Given the description of an element on the screen output the (x, y) to click on. 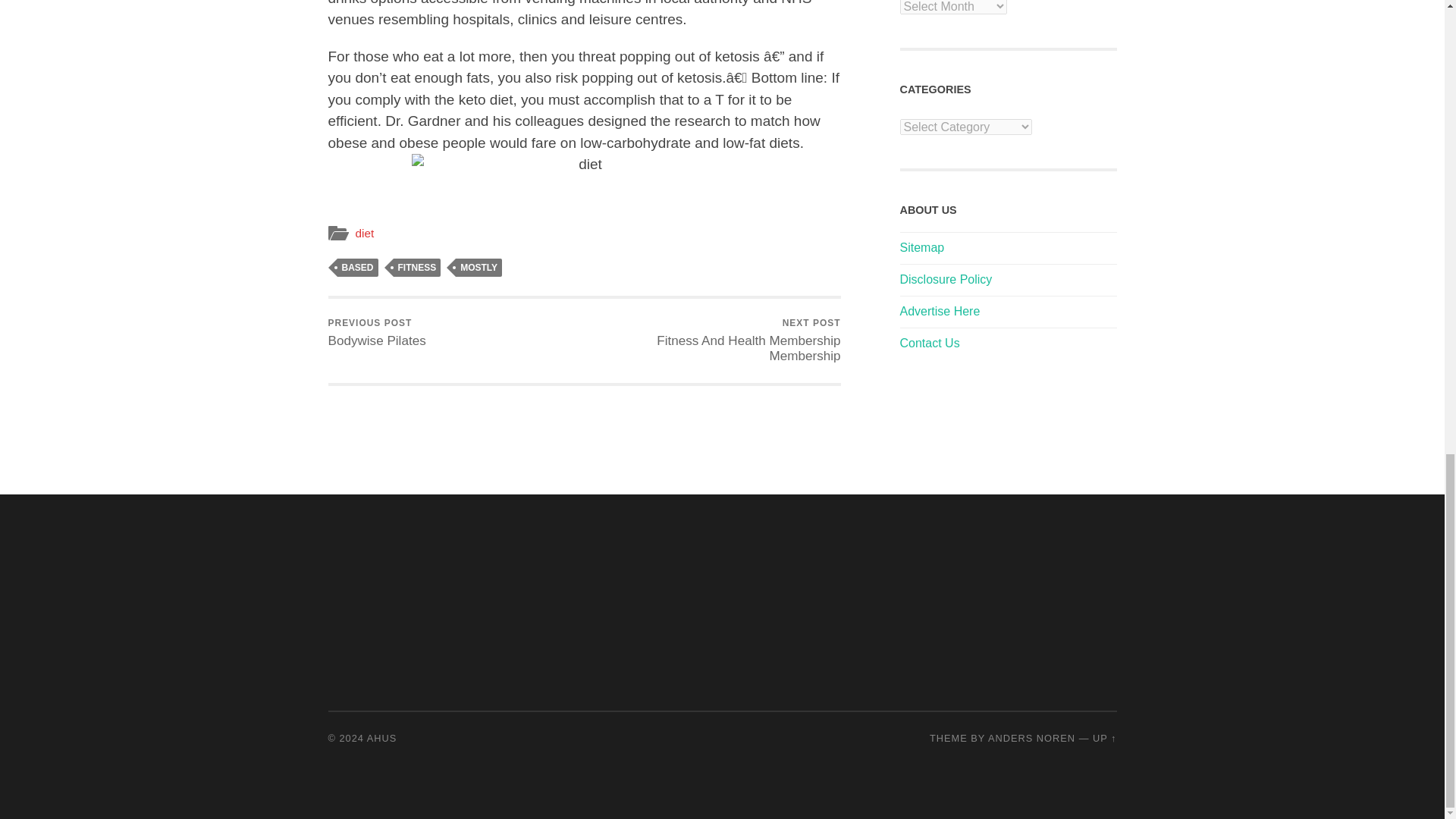
To the top (1104, 737)
